Given the description of an element on the screen output the (x, y) to click on. 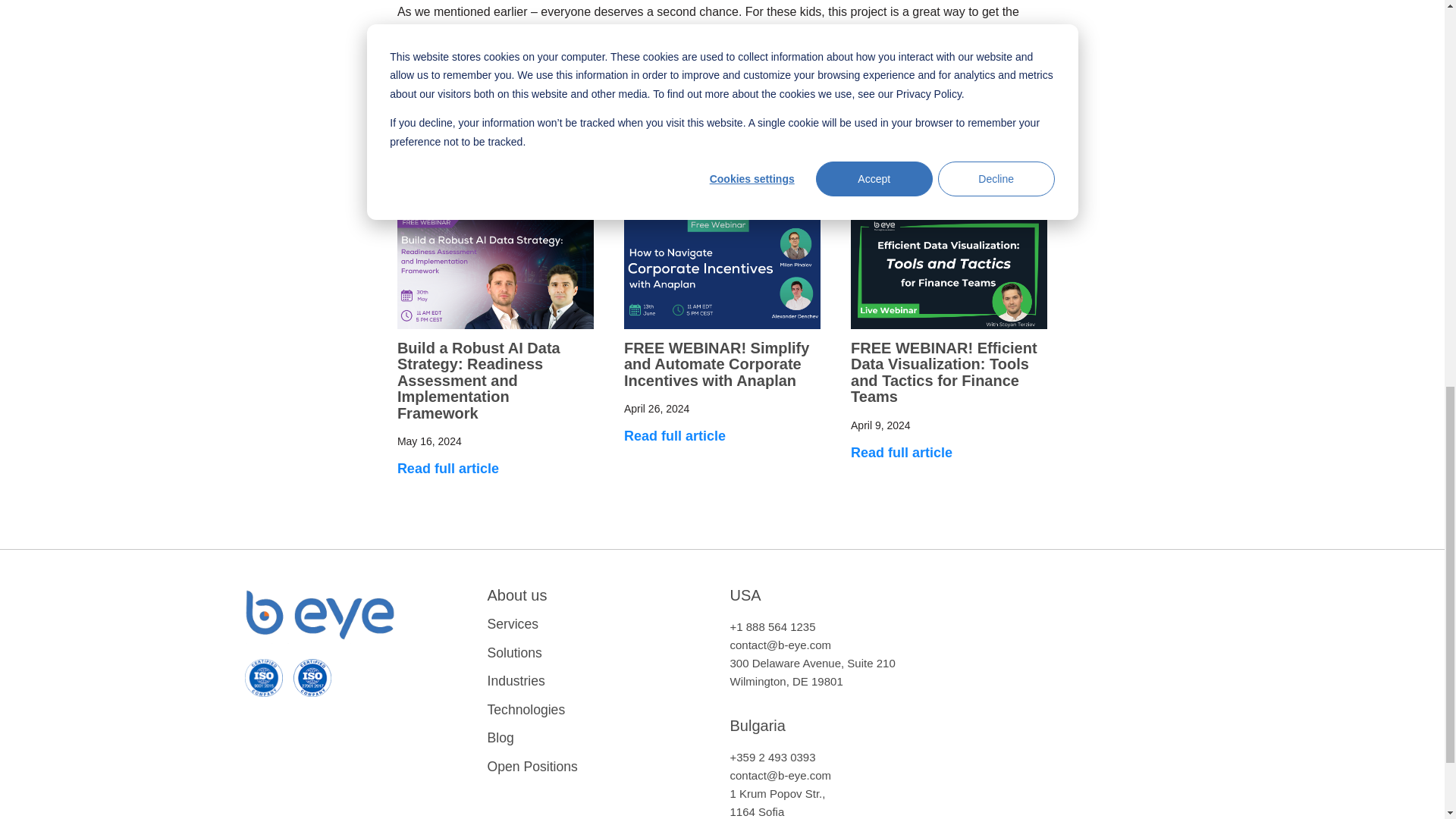
Form 0 (1085, 648)
